Given the description of an element on the screen output the (x, y) to click on. 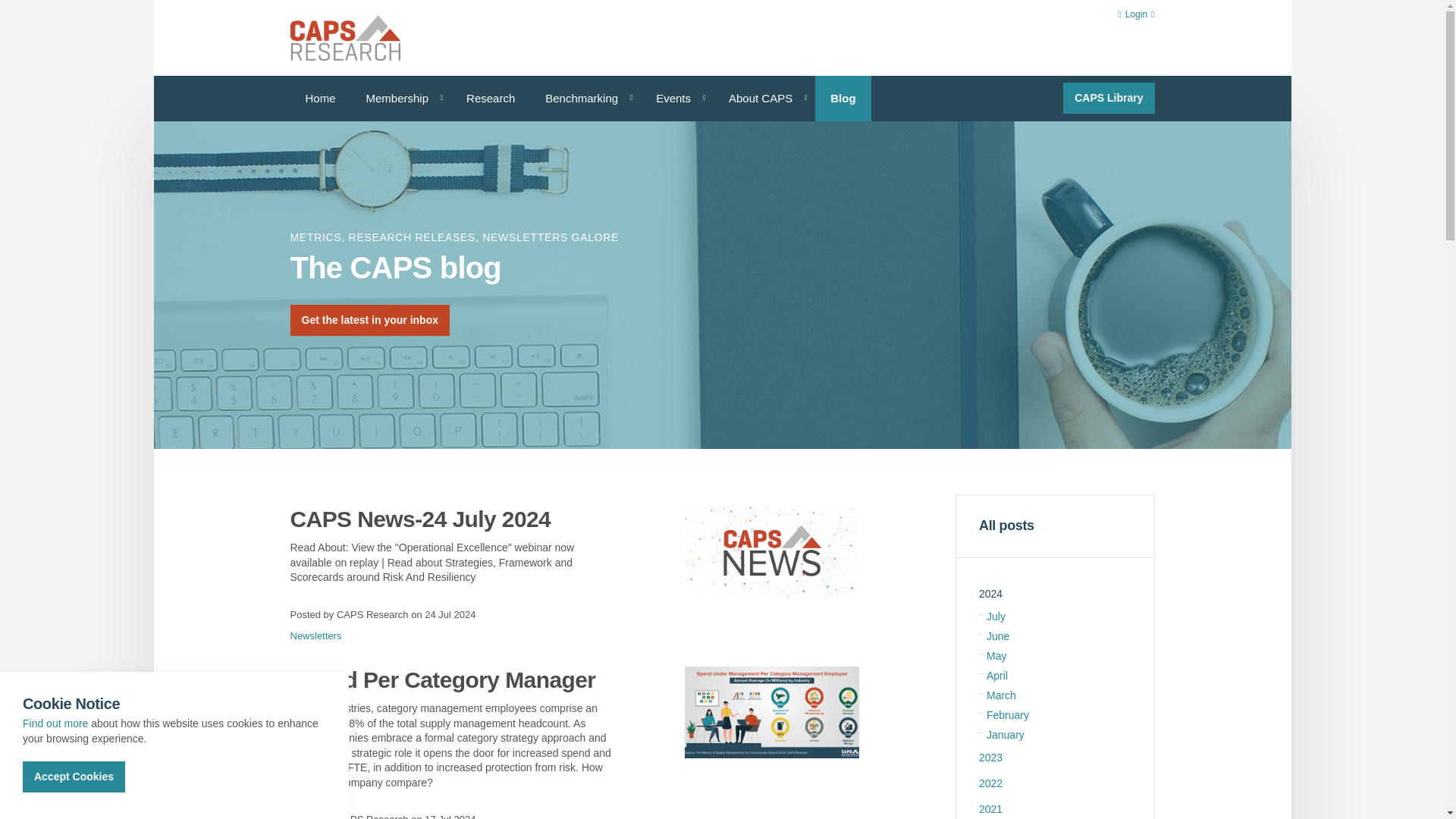
Benchmarking (584, 98)
Skip to the content (721, 12)
Newsletters (314, 635)
Events (676, 98)
CAPS Library (1108, 97)
Get the latest in your inbox (368, 327)
Membership (400, 98)
Privacy Policy (55, 723)
Research (490, 98)
CAPS Research (343, 37)
Newsletters (314, 635)
CAPS Library (1108, 97)
Blog (842, 98)
Login (1136, 15)
Spend Per Category Manager (450, 679)
